Given the description of an element on the screen output the (x, y) to click on. 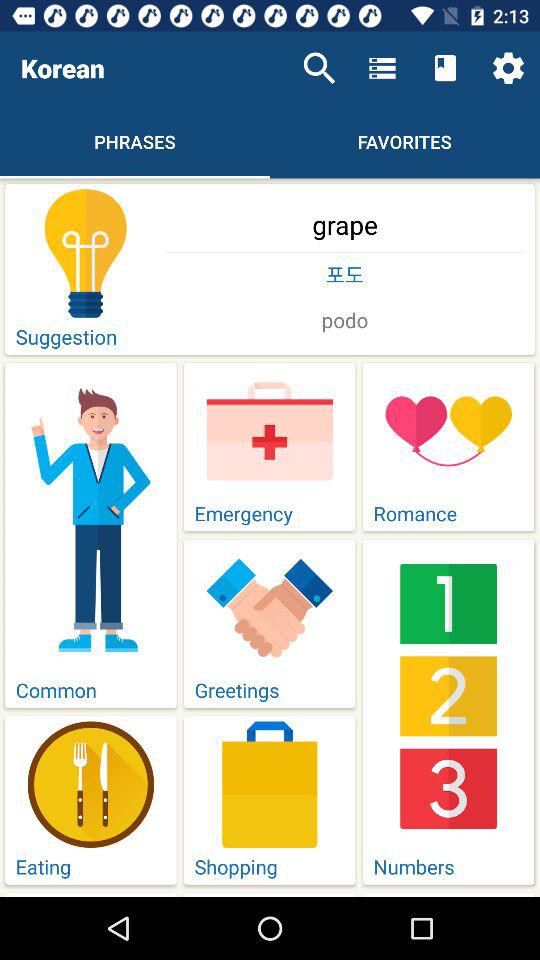
tap icon above the favorites icon (444, 67)
